Given the description of an element on the screen output the (x, y) to click on. 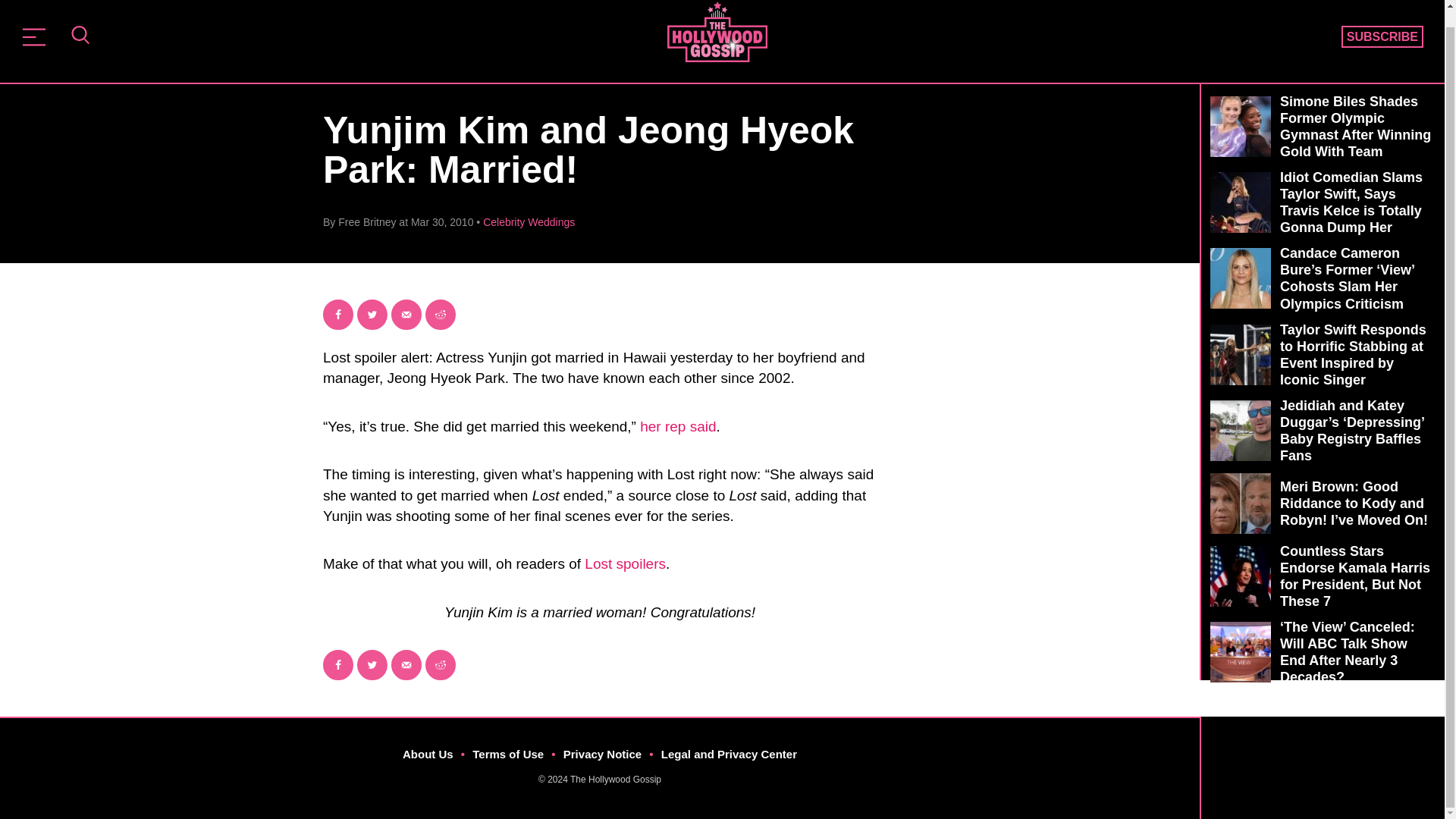
her rep said (678, 426)
Share on Twitter (371, 665)
Send over email (406, 314)
Share on Twitter (371, 314)
Free Britney (366, 222)
Share on Reddit (440, 314)
Send over email (406, 665)
Share on Reddit (440, 665)
Share on Facebook (338, 665)
Lost spoilers (625, 563)
SUBSCRIBE (1381, 36)
Share on Facebook (338, 314)
